Given the description of an element on the screen output the (x, y) to click on. 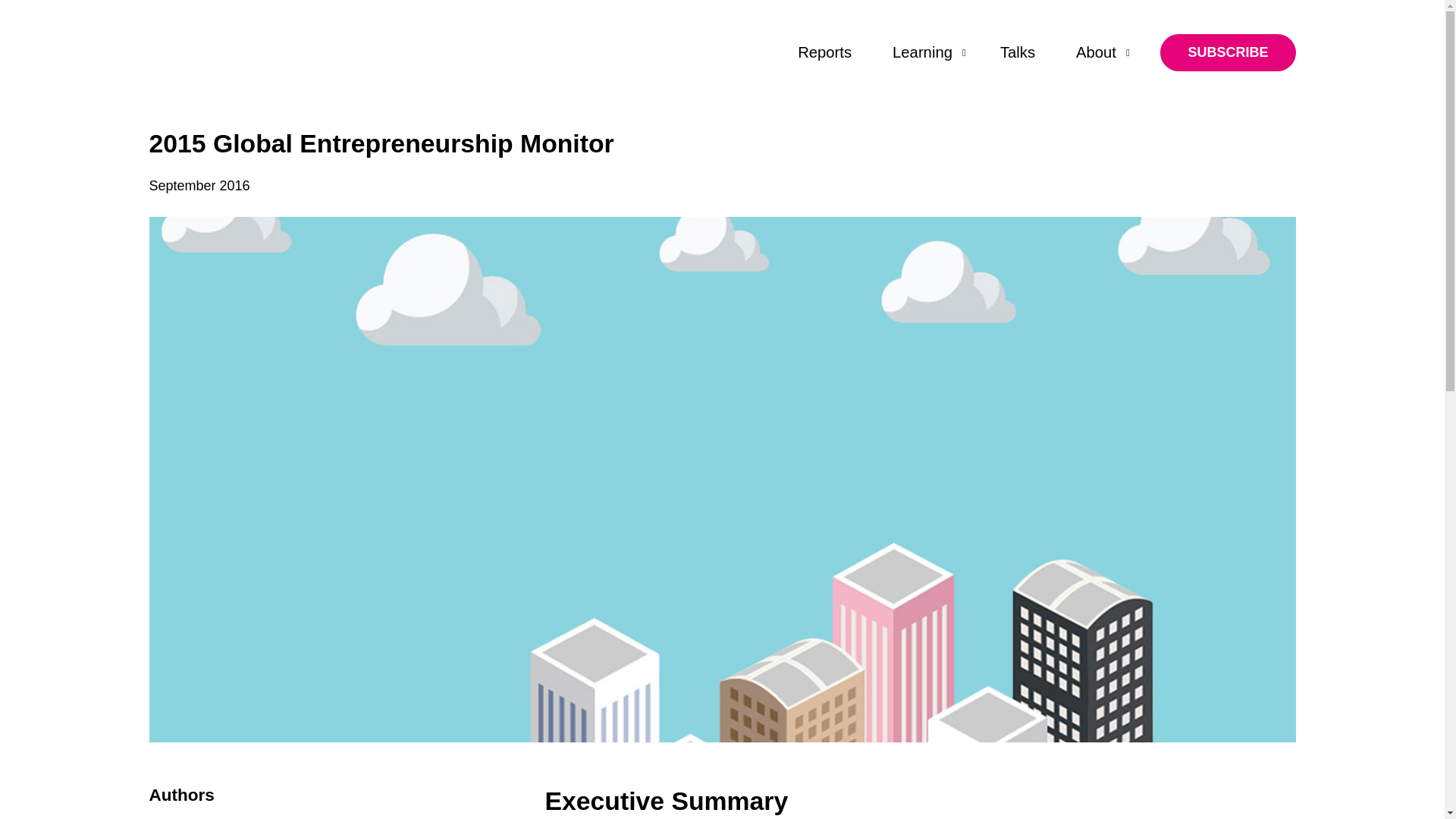
Talks (1017, 52)
Learning (925, 52)
About (1099, 52)
Reports (824, 52)
